Given the description of an element on the screen output the (x, y) to click on. 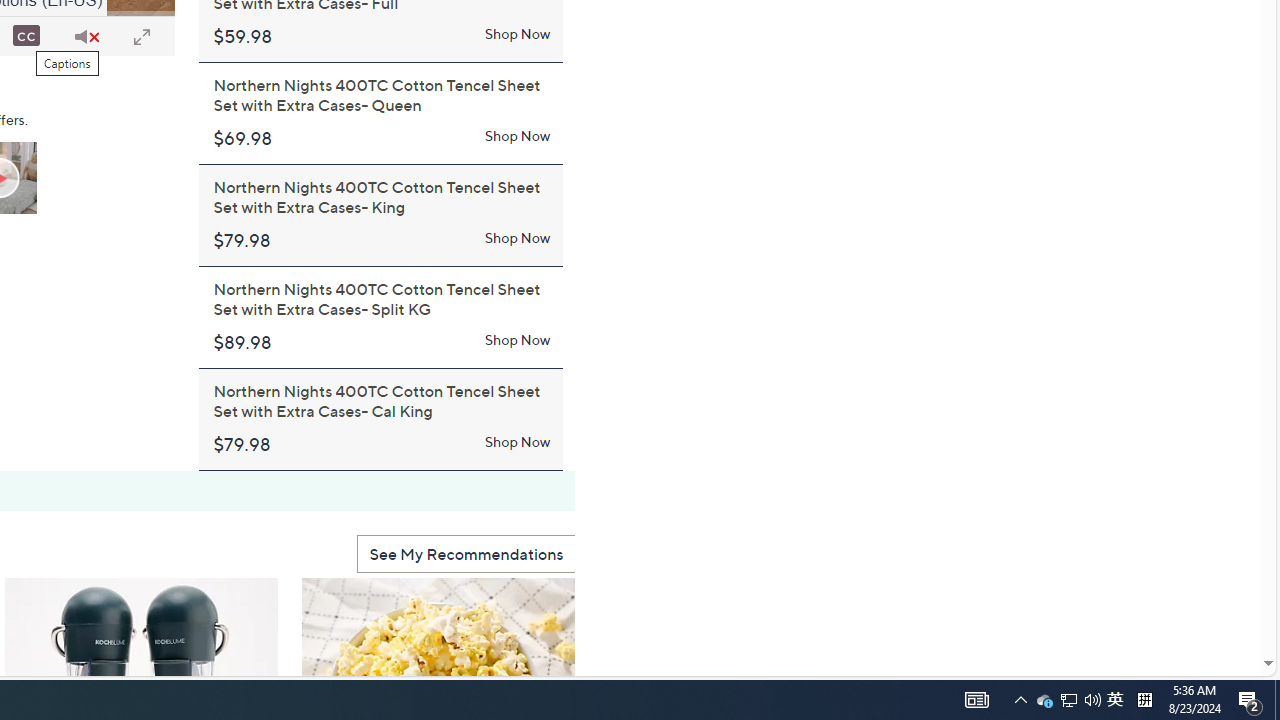
Captions (25, 35)
Unmute (85, 35)
See My Recommendations (466, 553)
Full Screen (141, 35)
